Given the description of an element on the screen output the (x, y) to click on. 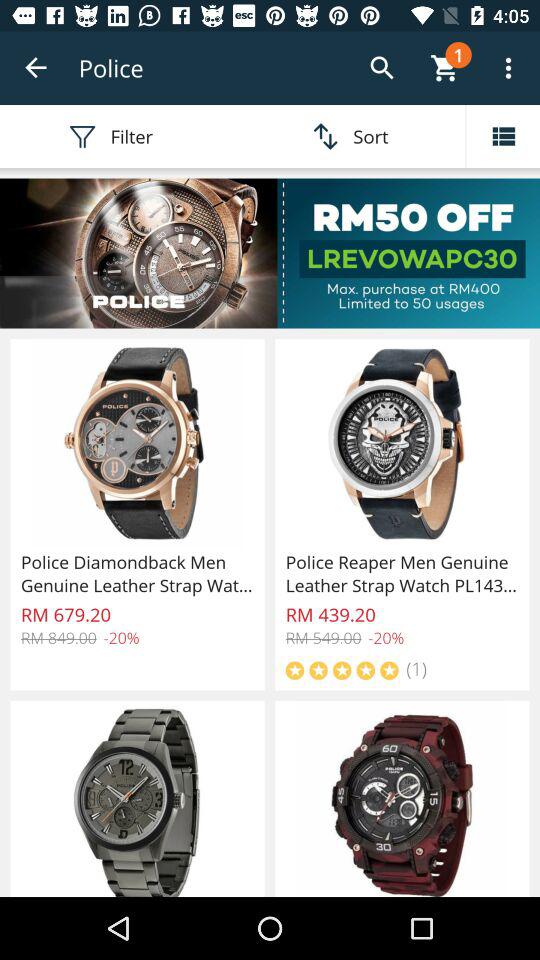
see more details about this (270, 253)
